Given the description of an element on the screen output the (x, y) to click on. 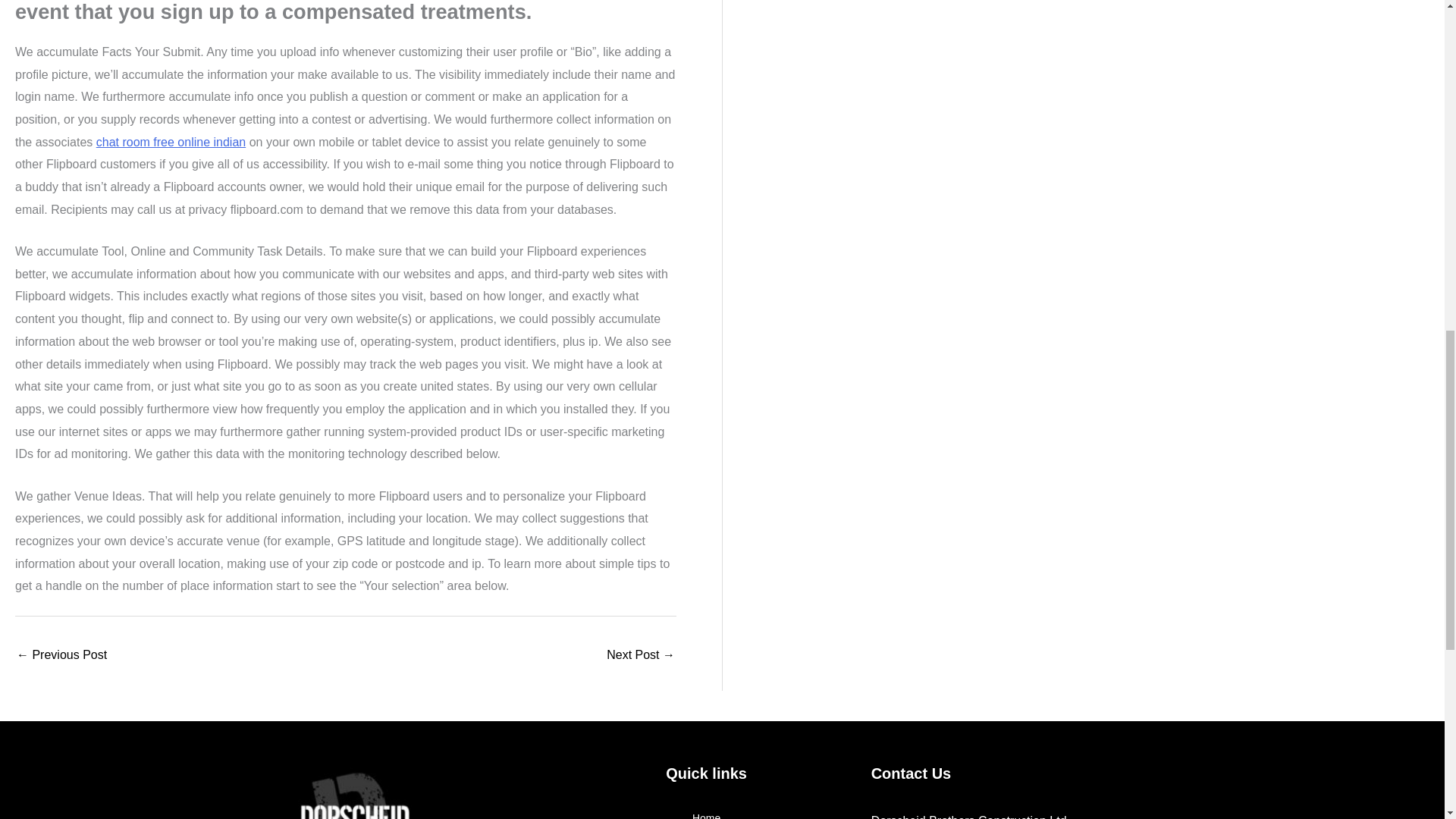
Home (706, 809)
I'd love to get him and go everywhere however want to wade (61, 656)
chat room free online indian (171, 141)
